Given the description of an element on the screen output the (x, y) to click on. 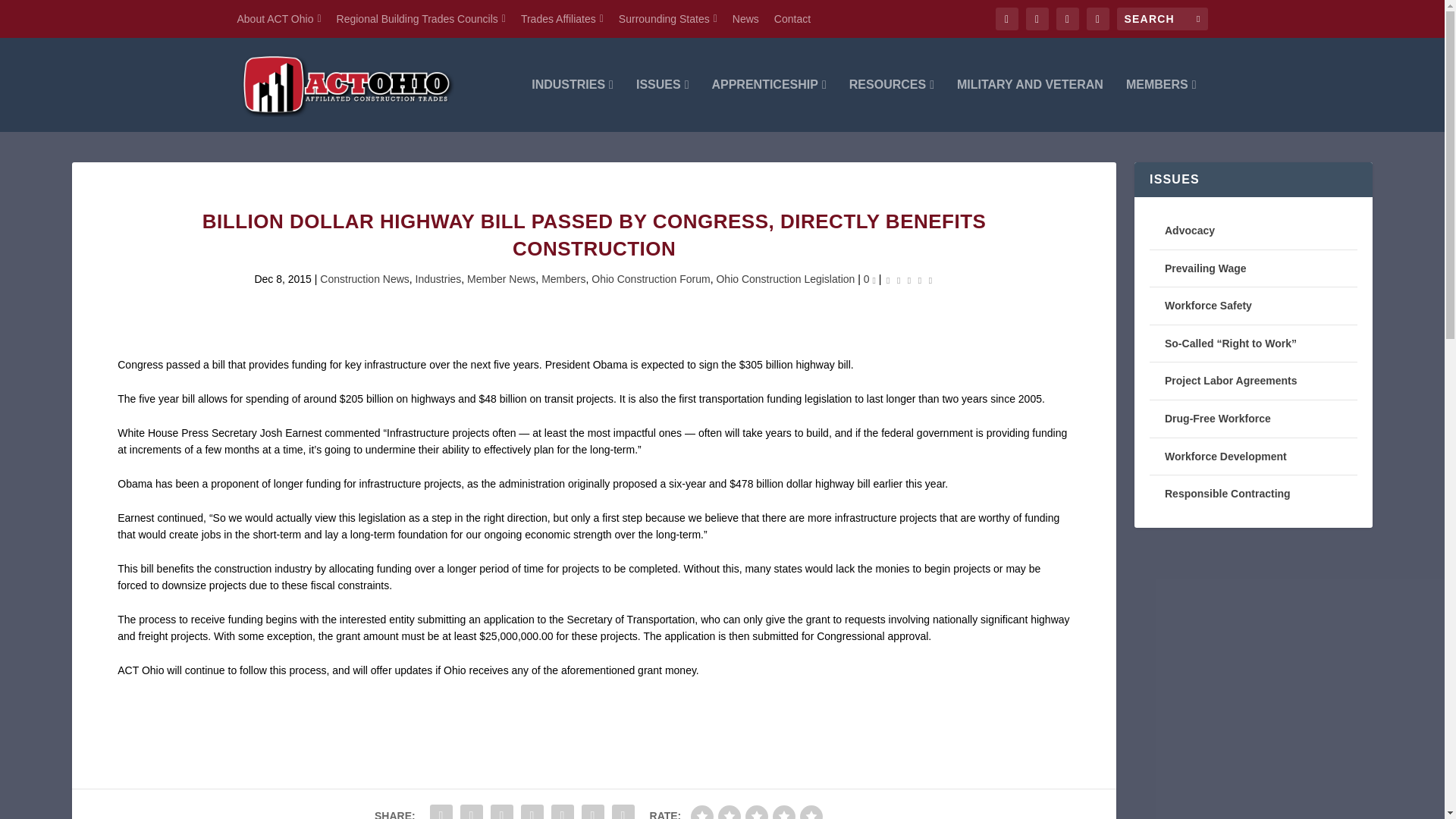
gorgeous (810, 812)
poor (729, 812)
regular (756, 812)
good (783, 812)
Search for: (1161, 18)
Regional Building Trades Councils (420, 18)
About ACT Ohio (277, 18)
Trades Affiliates (562, 18)
Rating: 0.00 (908, 279)
